Given the description of an element on the screen output the (x, y) to click on. 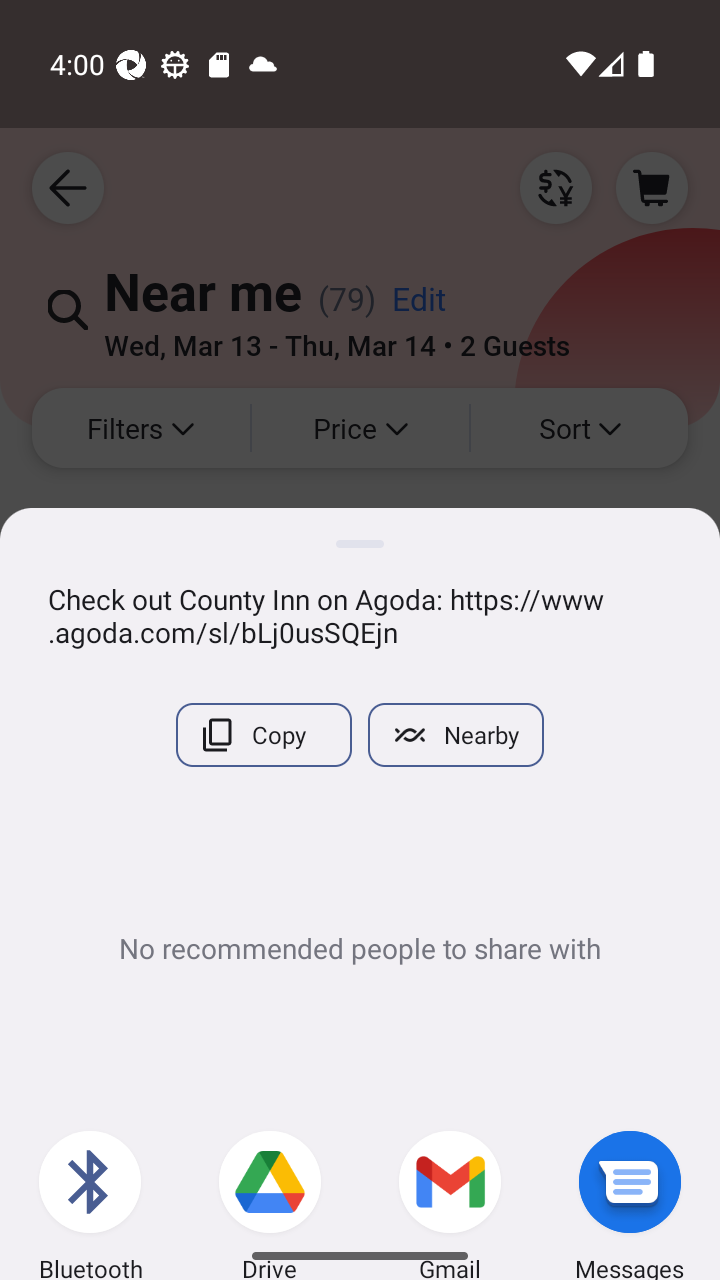
Copy (263, 735)
Nearby (455, 735)
Bluetooth (90, 1178)
Drive (270, 1178)
Gmail (450, 1178)
Messages (630, 1178)
